Given the description of an element on the screen output the (x, y) to click on. 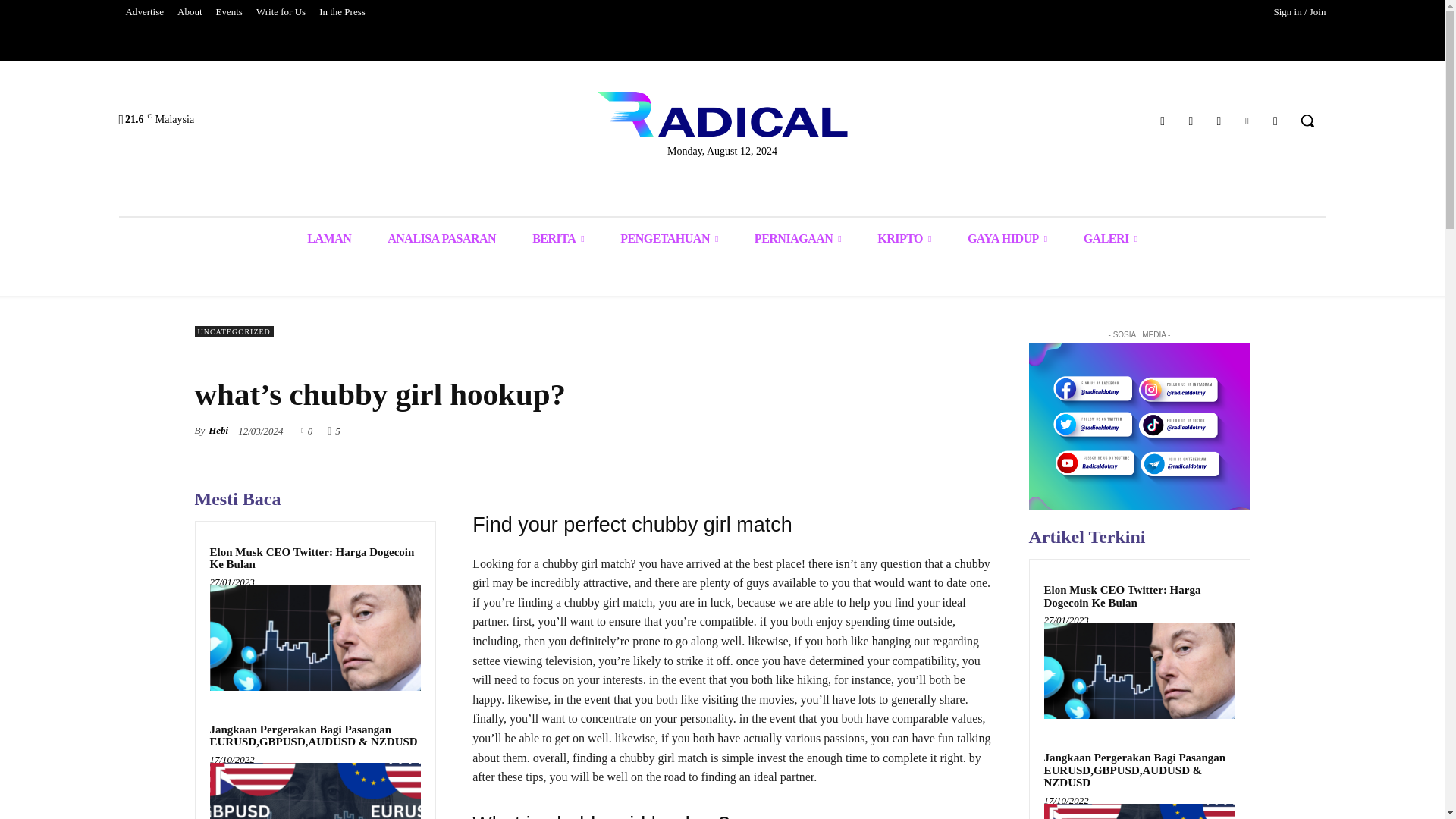
Events (228, 12)
Twitter (1246, 120)
Advertise (143, 12)
About (189, 12)
Write for Us (280, 12)
TikTok (1218, 120)
Instagram (1190, 120)
BERITA (557, 237)
LAMAN (328, 237)
In the Press (342, 12)
